Given the description of an element on the screen output the (x, y) to click on. 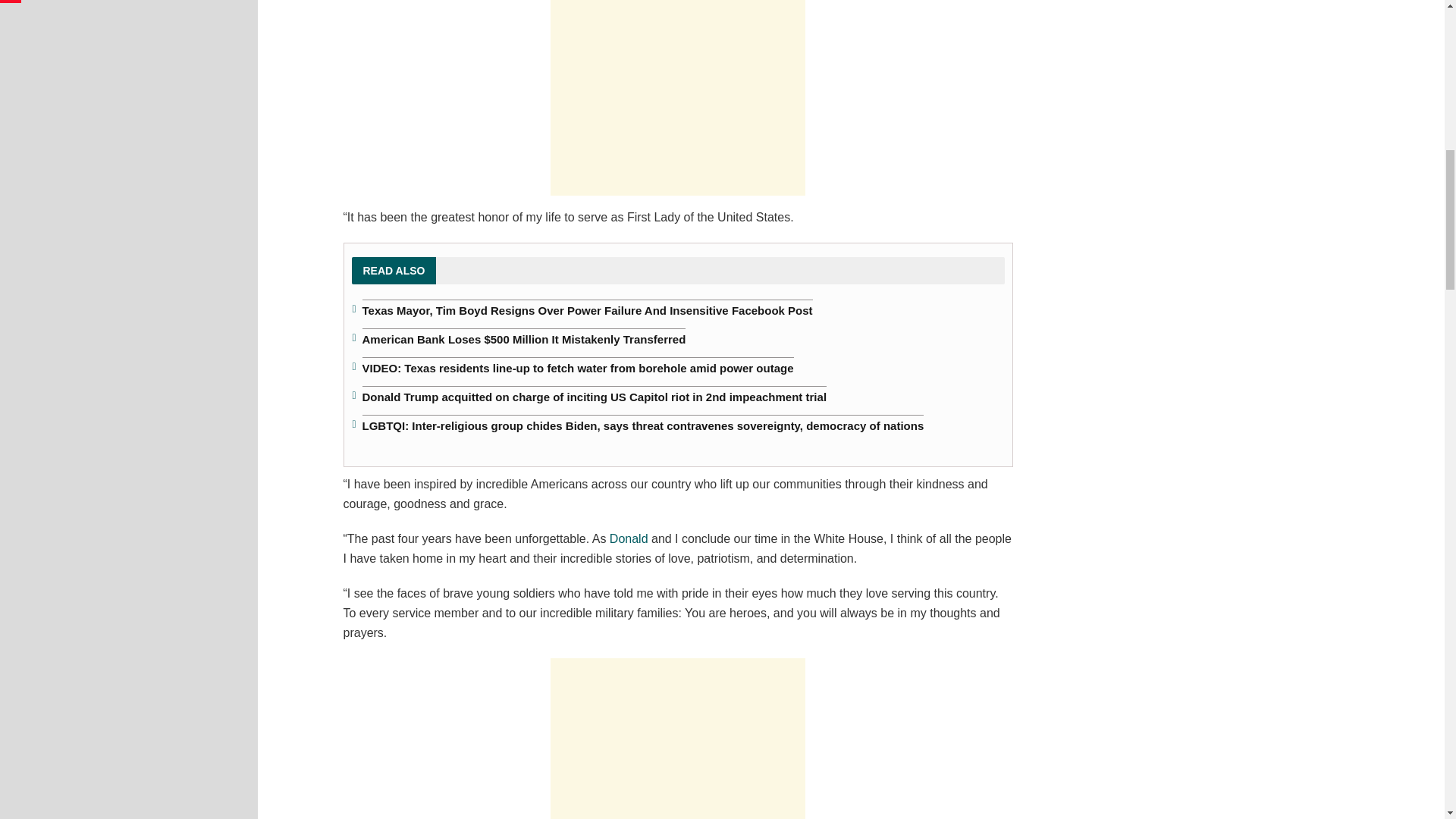
Advertisement (677, 738)
Advertisement (677, 97)
